Given the description of an element on the screen output the (x, y) to click on. 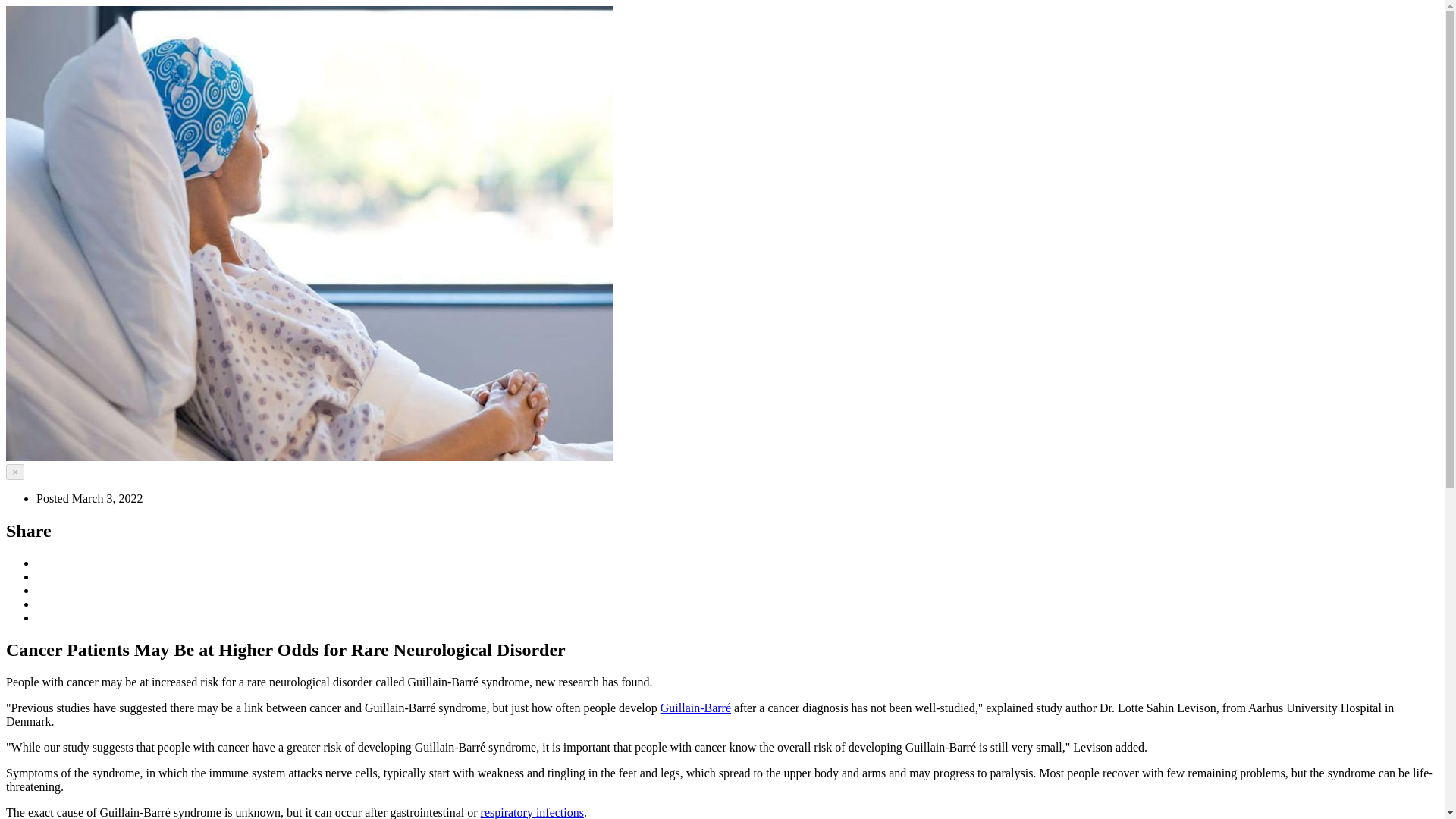
respiratory infections (531, 812)
